Given the description of an element on the screen output the (x, y) to click on. 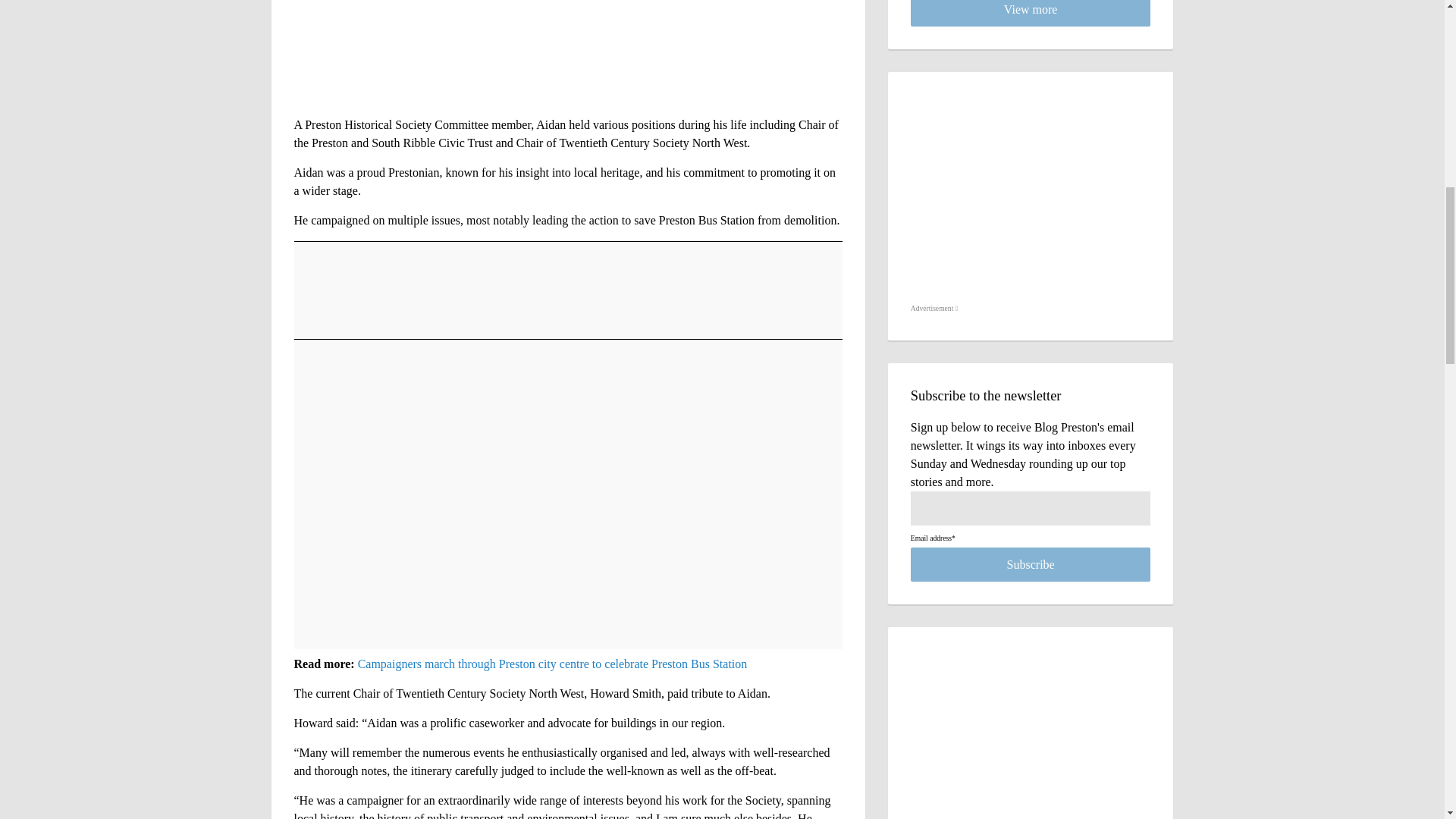
Subscribe (1031, 564)
View more (1031, 13)
Advertisement (934, 308)
Subscribe (1031, 564)
